Given the description of an element on the screen output the (x, y) to click on. 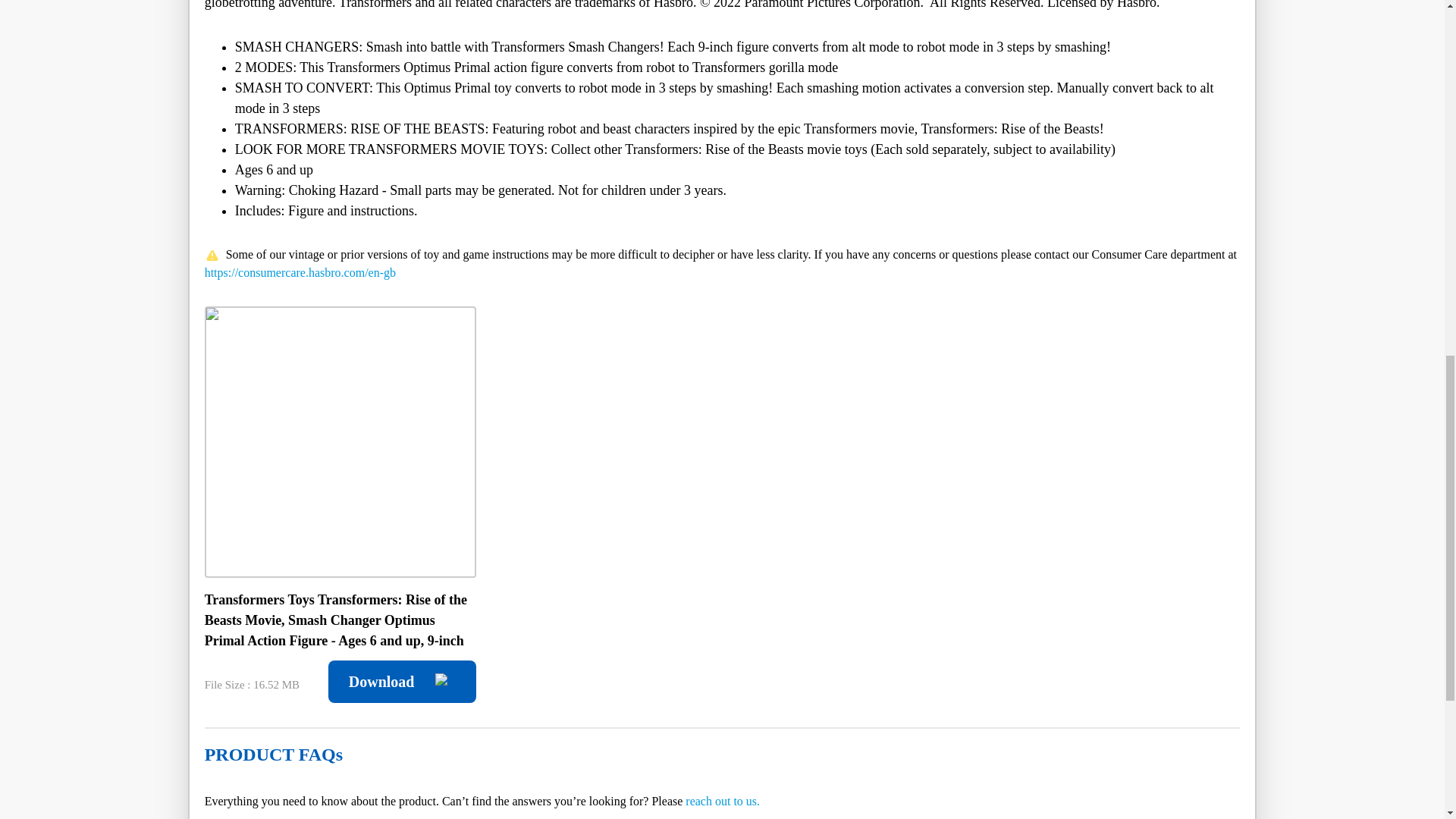
Download (402, 681)
reach out to us. (722, 800)
